Given the description of an element on the screen output the (x, y) to click on. 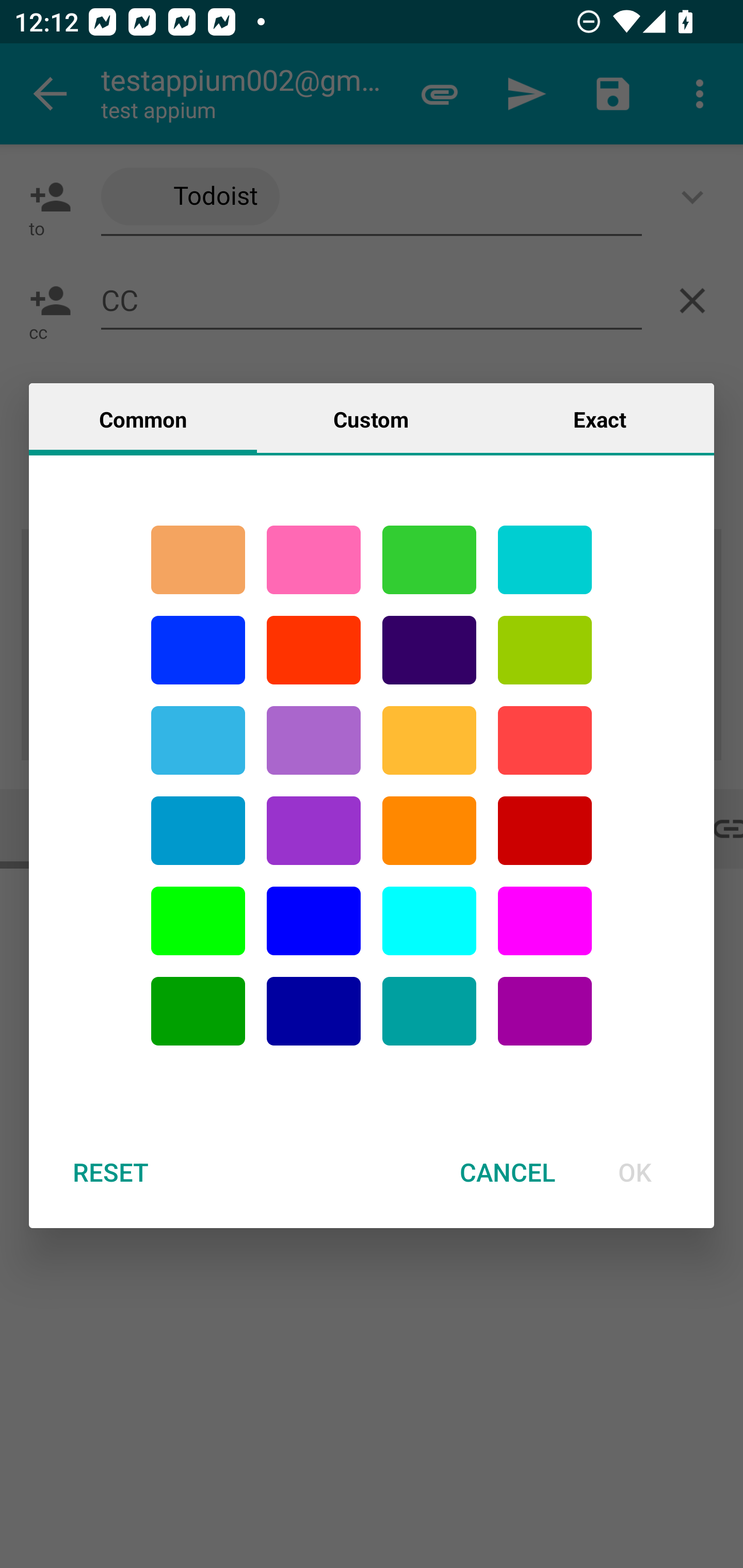
Common (142, 418)
Custom (371, 418)
Exact (599, 418)
Peach (197, 559)
Pink (313, 559)
Green (429, 559)
Cyan (544, 559)
Blue (197, 649)
Red (313, 649)
Dark purple (429, 649)
Light green (544, 649)
Cyan (197, 739)
Purple (313, 739)
Light orange (429, 739)
Light red (544, 739)
Dark cyan (197, 830)
Purple (313, 830)
Orange (429, 830)
Dark red (544, 830)
Light green (197, 920)
Blue (313, 920)
Light cyan (429, 920)
Light purple (544, 920)
Dark green (197, 1010)
Dark blue (313, 1010)
Cyan (429, 1010)
Purple (544, 1010)
RESET (110, 1171)
CANCEL (507, 1171)
OK (634, 1171)
